Given the description of an element on the screen output the (x, y) to click on. 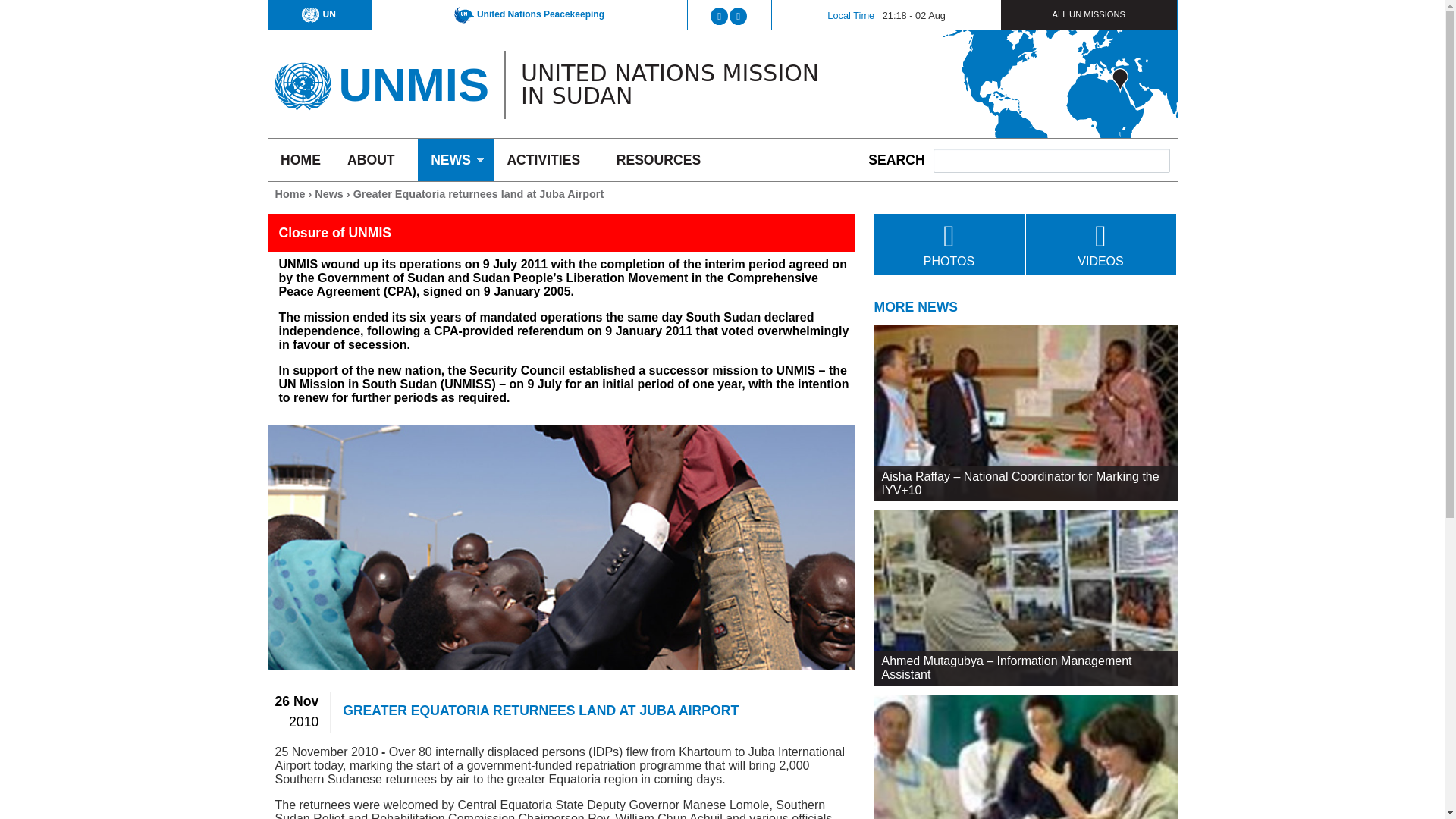
HOME (299, 159)
UNMIS (412, 84)
Home (301, 80)
Enter the terms you wish to search for. (1051, 160)
United Nations Peacekeeping (529, 14)
Home (412, 84)
UN (317, 14)
ALL UN MISSIONS (1089, 13)
